Given the description of an element on the screen output the (x, y) to click on. 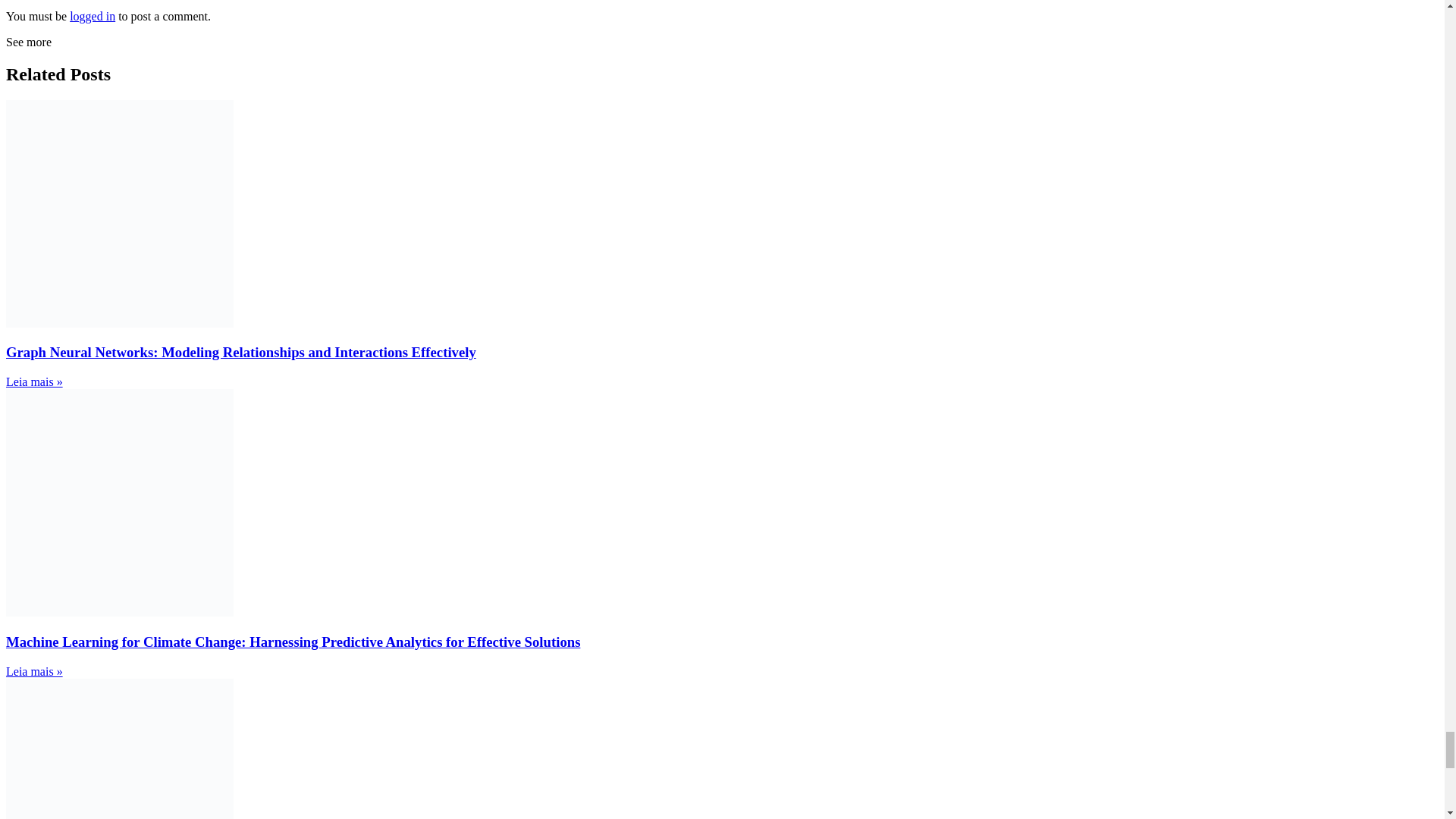
logged in (92, 15)
